Given the description of an element on the screen output the (x, y) to click on. 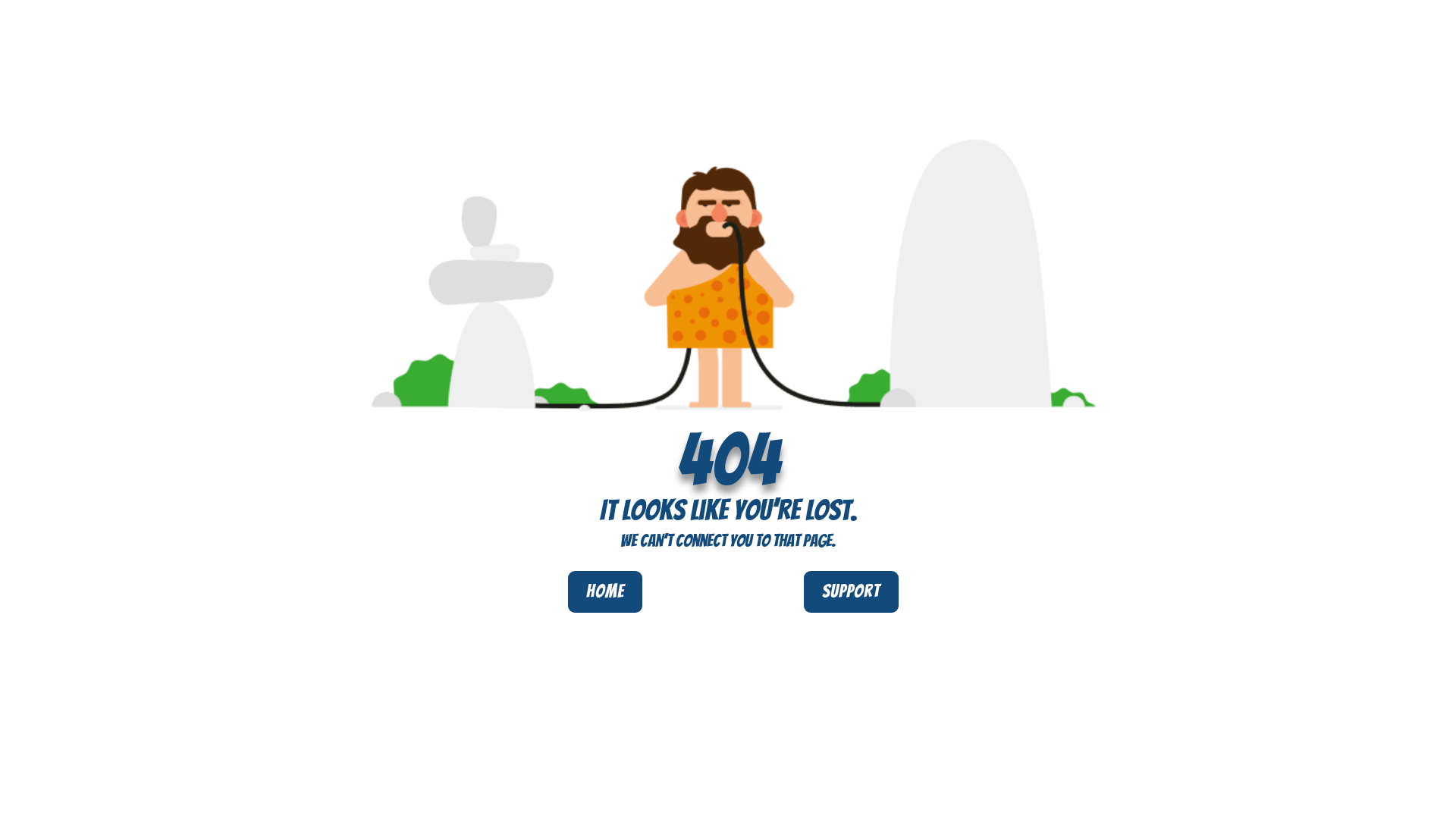
Support Element type: text (850, 591)
Home Element type: text (604, 591)
